Given the description of an element on the screen output the (x, y) to click on. 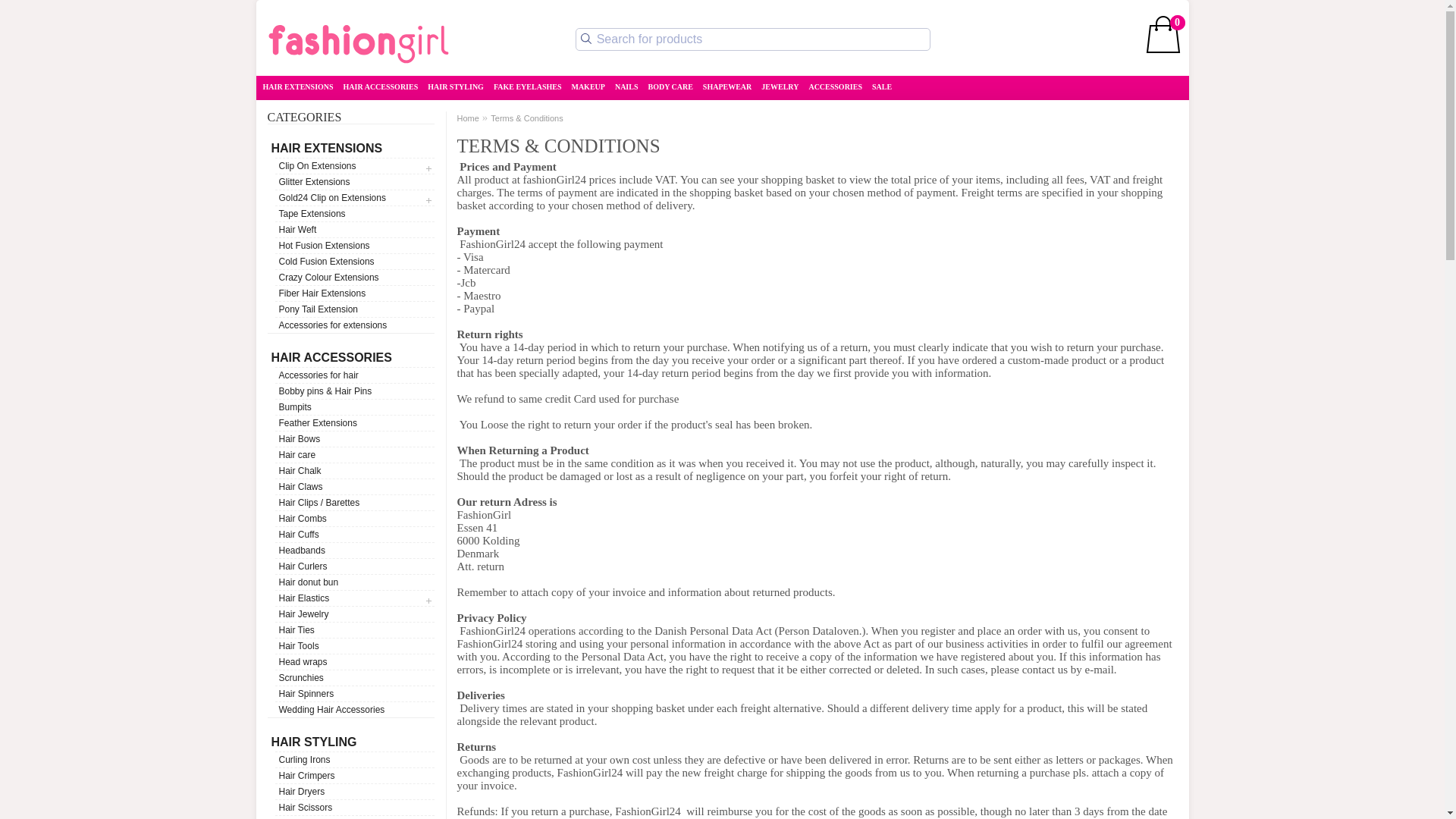
Submit the search query. (586, 38)
FashionGirl24.co.uk (357, 43)
